Given the description of an element on the screen output the (x, y) to click on. 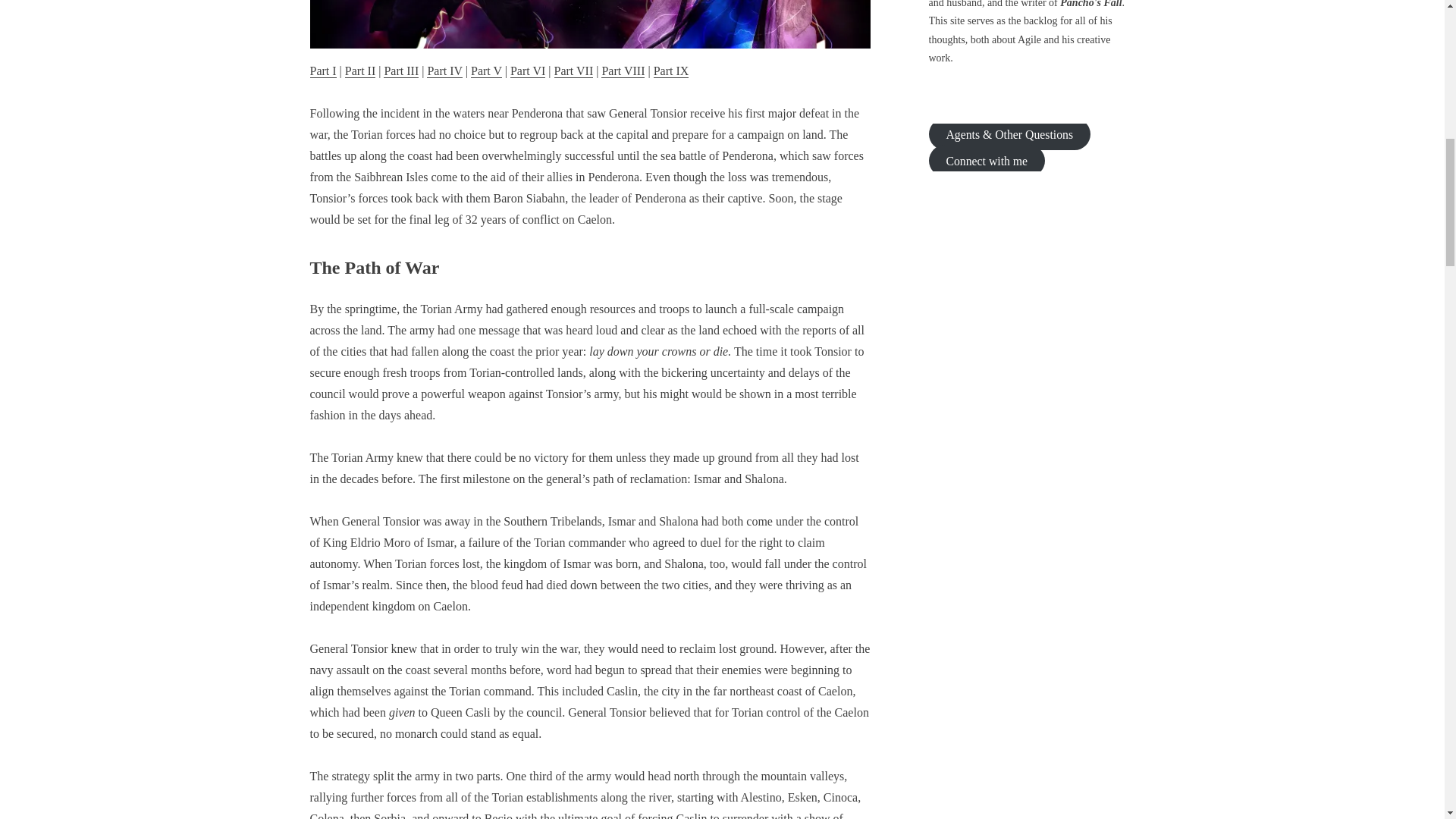
Part V (486, 70)
Part VIII (623, 70)
Part VI (527, 70)
Part IX (670, 70)
Part III (401, 70)
Part I (322, 70)
Part VII (574, 70)
Part IV (443, 70)
Part II (360, 70)
